Given the description of an element on the screen output the (x, y) to click on. 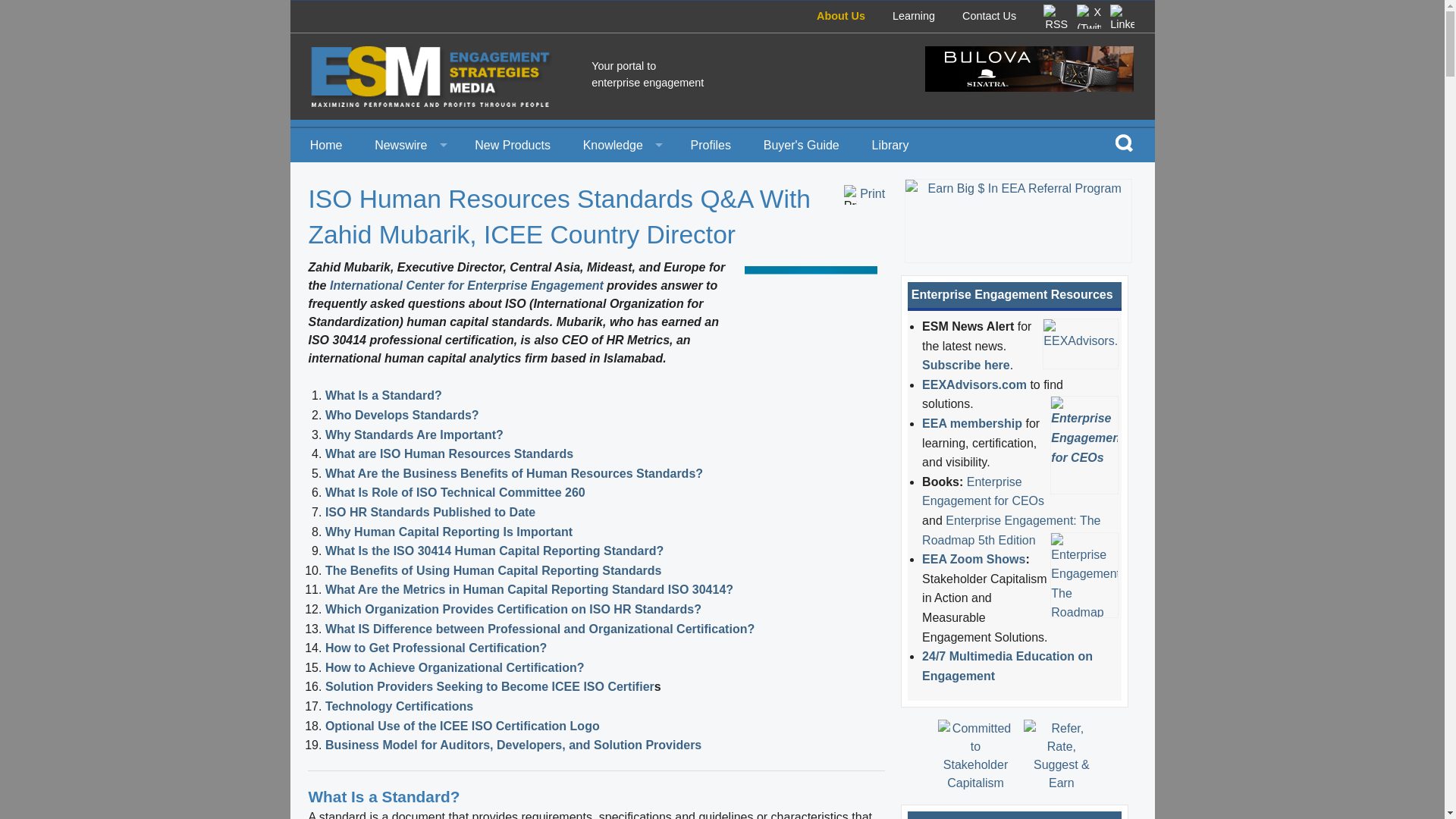
Buyer's Guide (801, 144)
Profiles (710, 144)
Engagement Radio (620, 247)
Home (325, 144)
Search (1123, 141)
About Us (840, 15)
Contact Us (989, 15)
Studies (620, 213)
Newswire (407, 144)
Library (890, 144)
New Products (512, 144)
EEA Books (620, 315)
Events (407, 213)
Engagement U. Courses (620, 349)
Learning (913, 15)
